Given the description of an element on the screen output the (x, y) to click on. 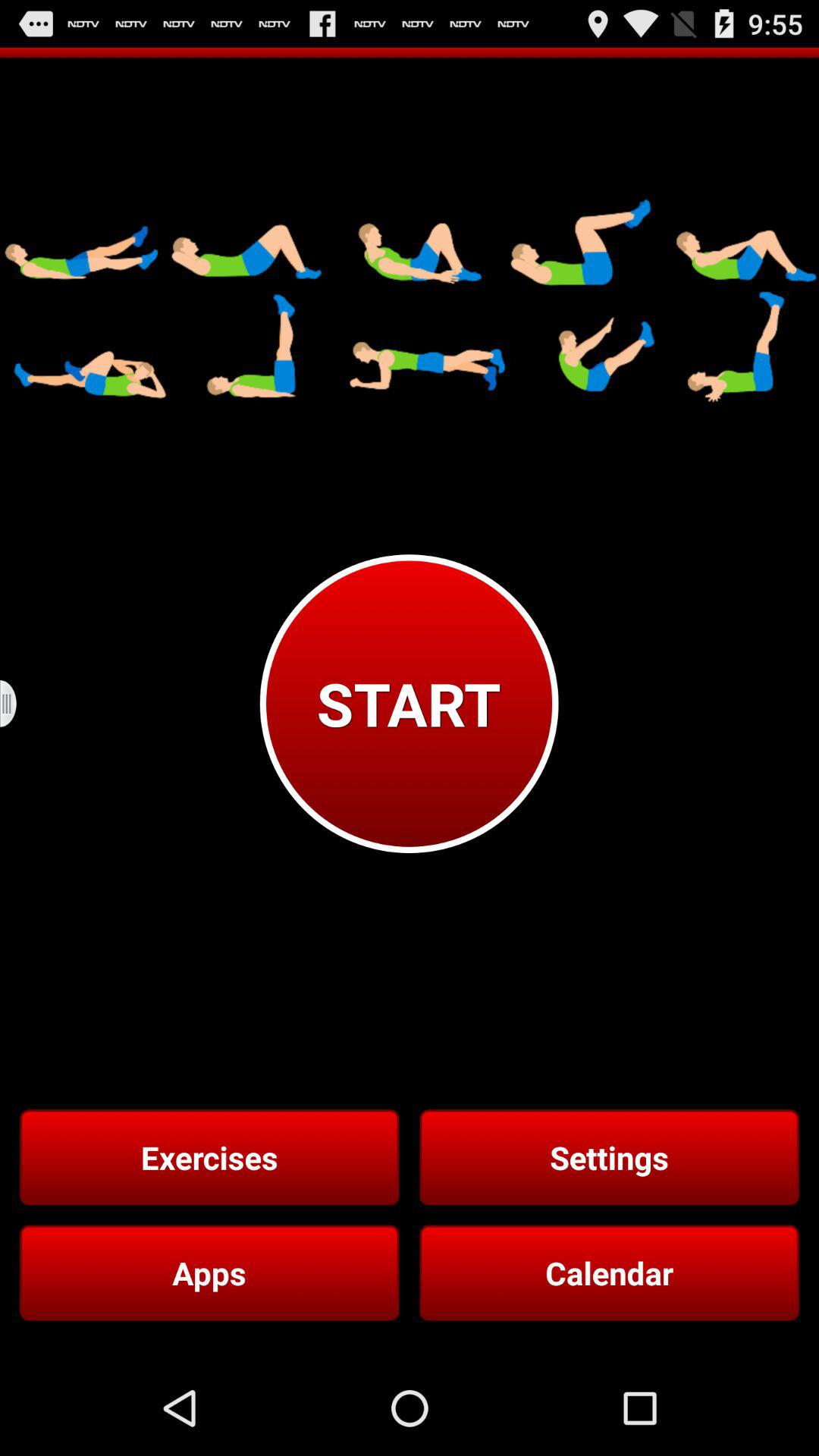
select icon next to calendar item (209, 1272)
